Given the description of an element on the screen output the (x, y) to click on. 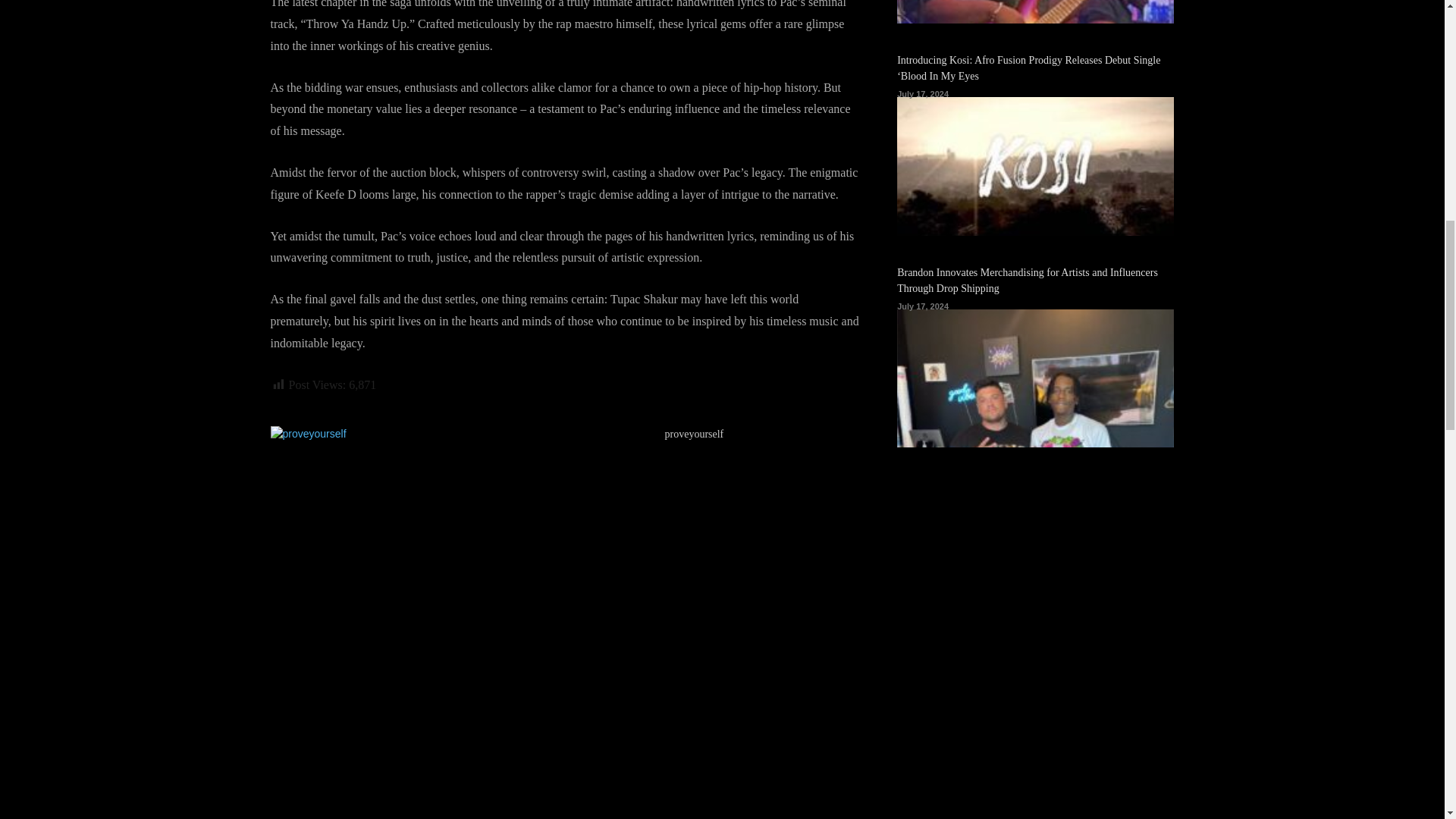
Rising From Legends: The Journey of Buddahbabywoo (1034, 11)
